Given the description of an element on the screen output the (x, y) to click on. 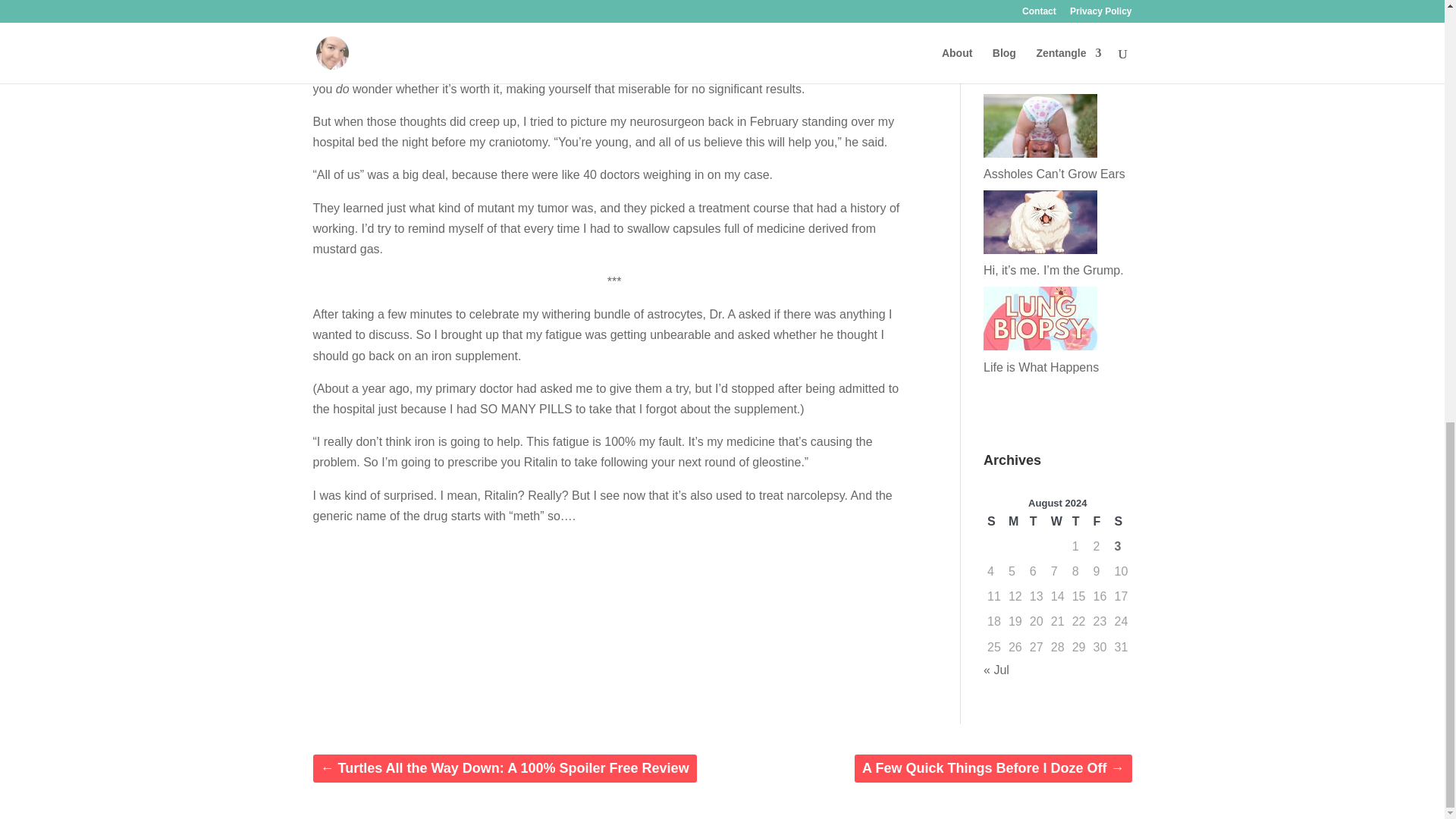
Dirty Doctor Peppers and Adjustable Beds (1051, 66)
Life is What Happens (1041, 366)
